Given the description of an element on the screen output the (x, y) to click on. 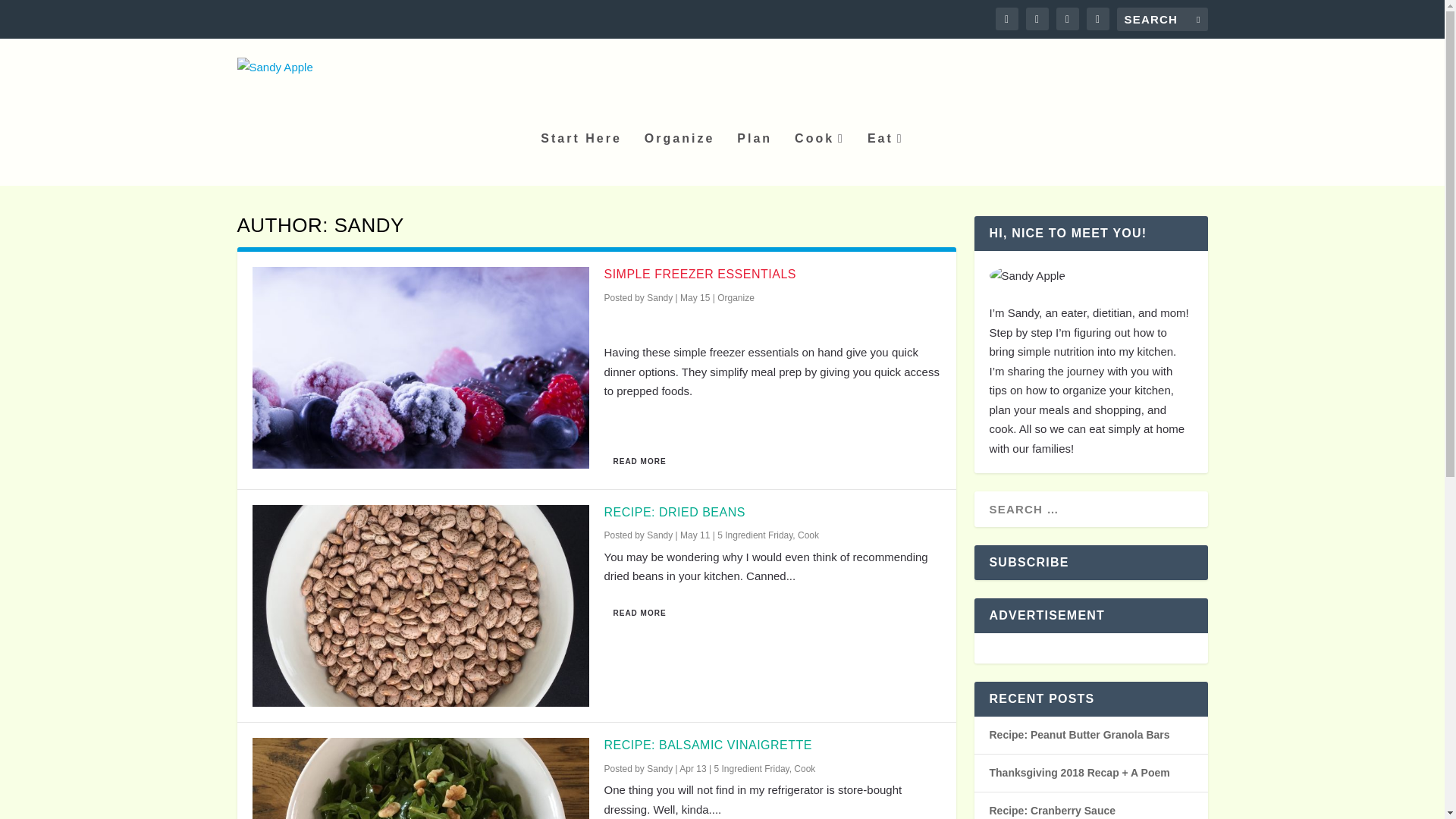
Posts by Sandy (659, 768)
RECIPE: DRIED BEANS (674, 512)
Sandy (659, 297)
Sandy (659, 768)
Simple Freezer Essentials (419, 367)
Recipe: Balsamic Vinaigrette (419, 778)
SIMPLE FREEZER ESSENTIALS (699, 273)
READ MORE (639, 461)
READ MORE (639, 613)
Posts by Sandy (659, 297)
